Given the description of an element on the screen output the (x, y) to click on. 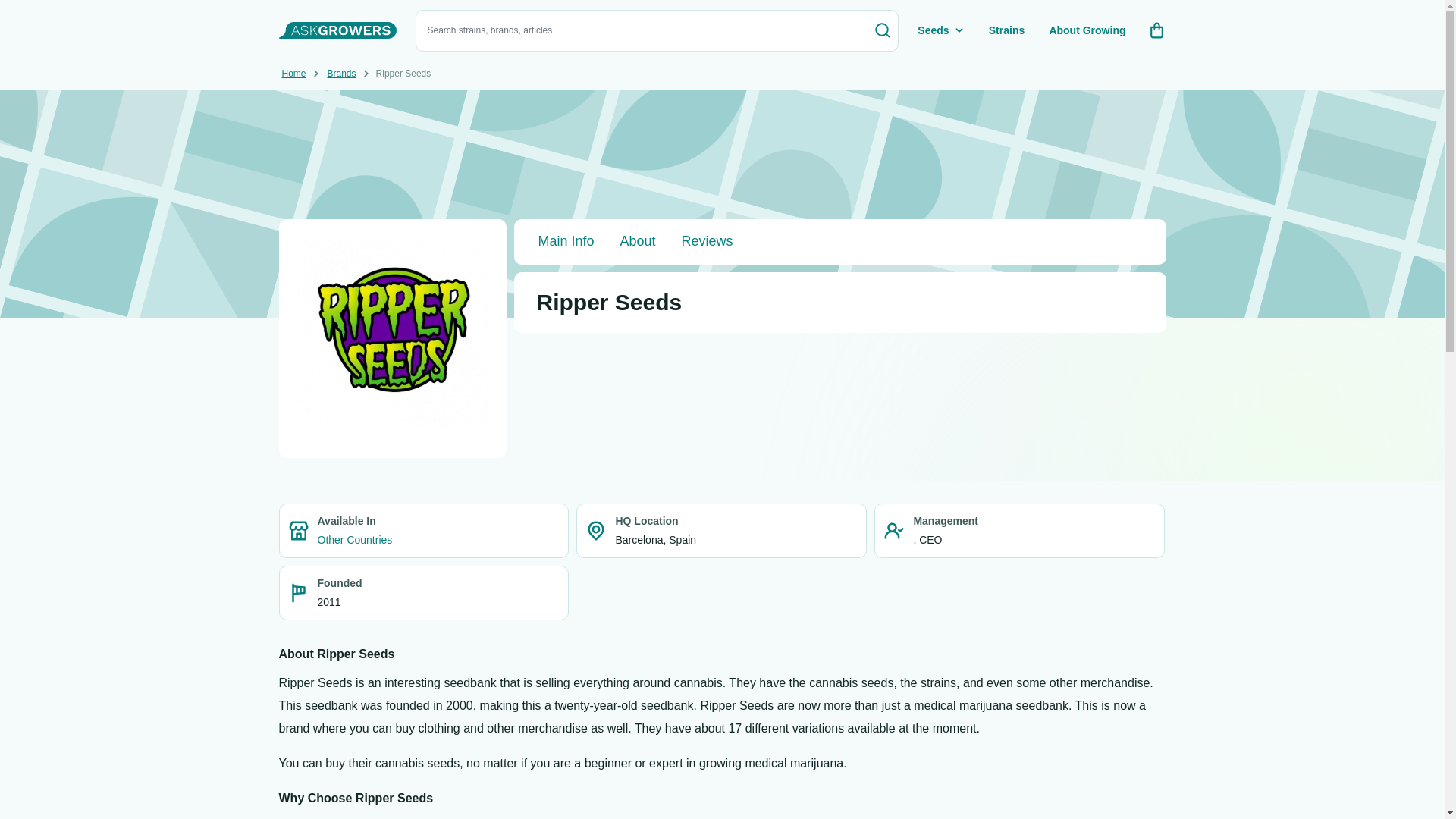
About (638, 240)
Strains (1007, 30)
Brands (342, 73)
Seeds (941, 30)
Main Info (566, 240)
Home (294, 73)
About Growing (1087, 30)
Reviews (707, 240)
